Given the description of an element on the screen output the (x, y) to click on. 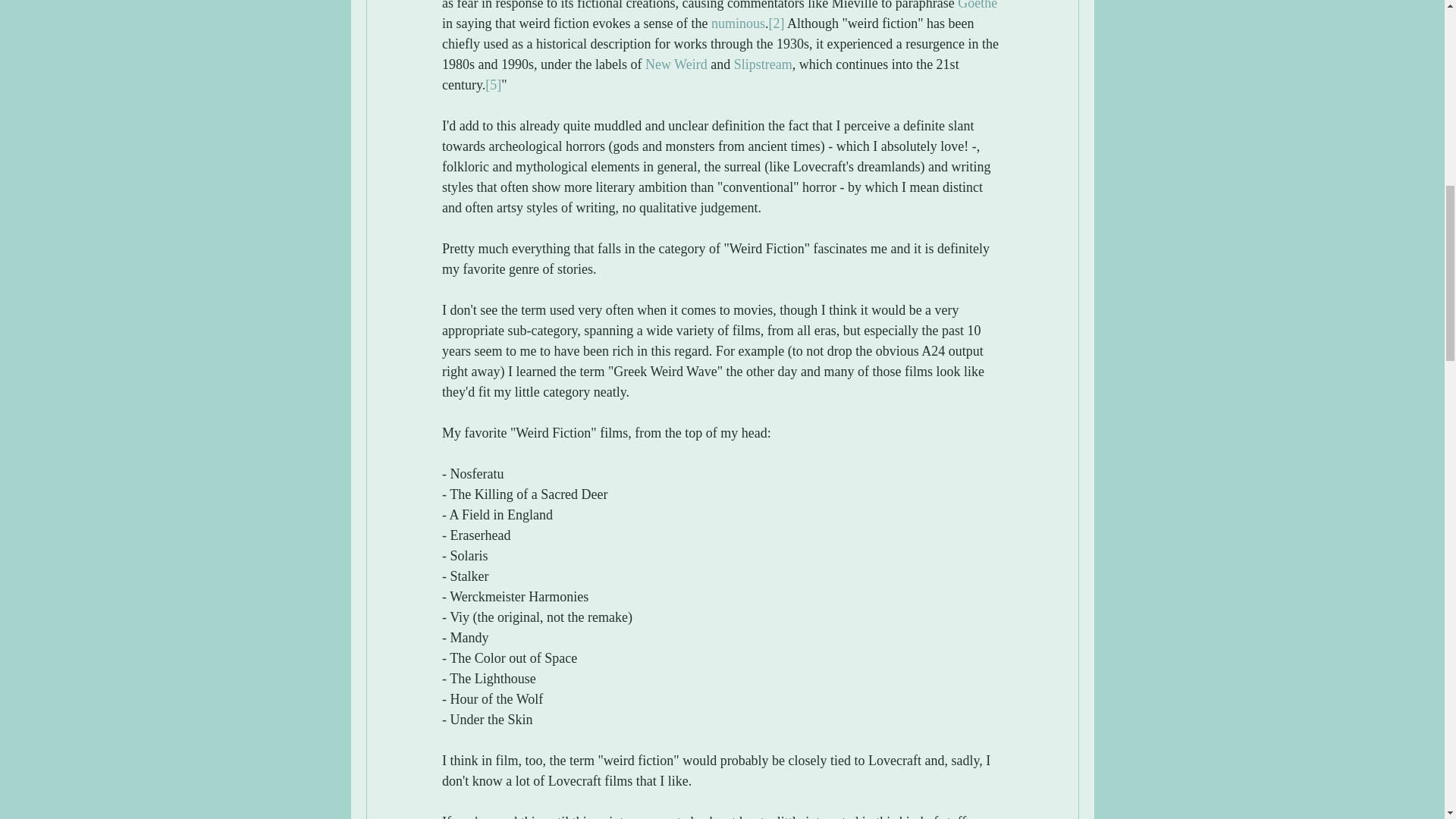
numinous (737, 23)
Goethe (977, 5)
Slipstream (762, 64)
New Weird (675, 64)
